Given the description of an element on the screen output the (x, y) to click on. 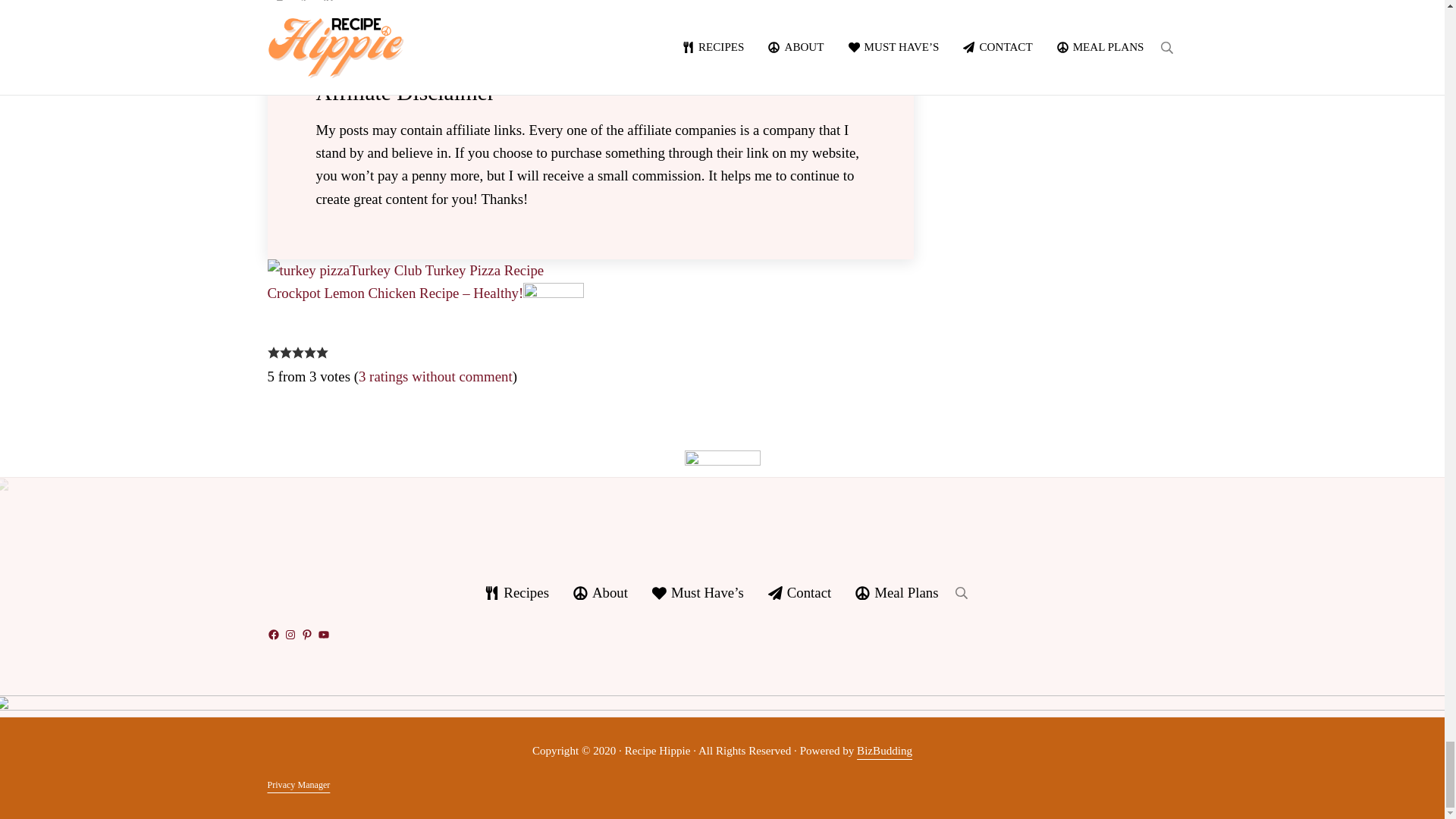
Share on Twitter (303, 7)
Share on Pinterest (327, 7)
Share on Facebook (278, 7)
